Given the description of an element on the screen output the (x, y) to click on. 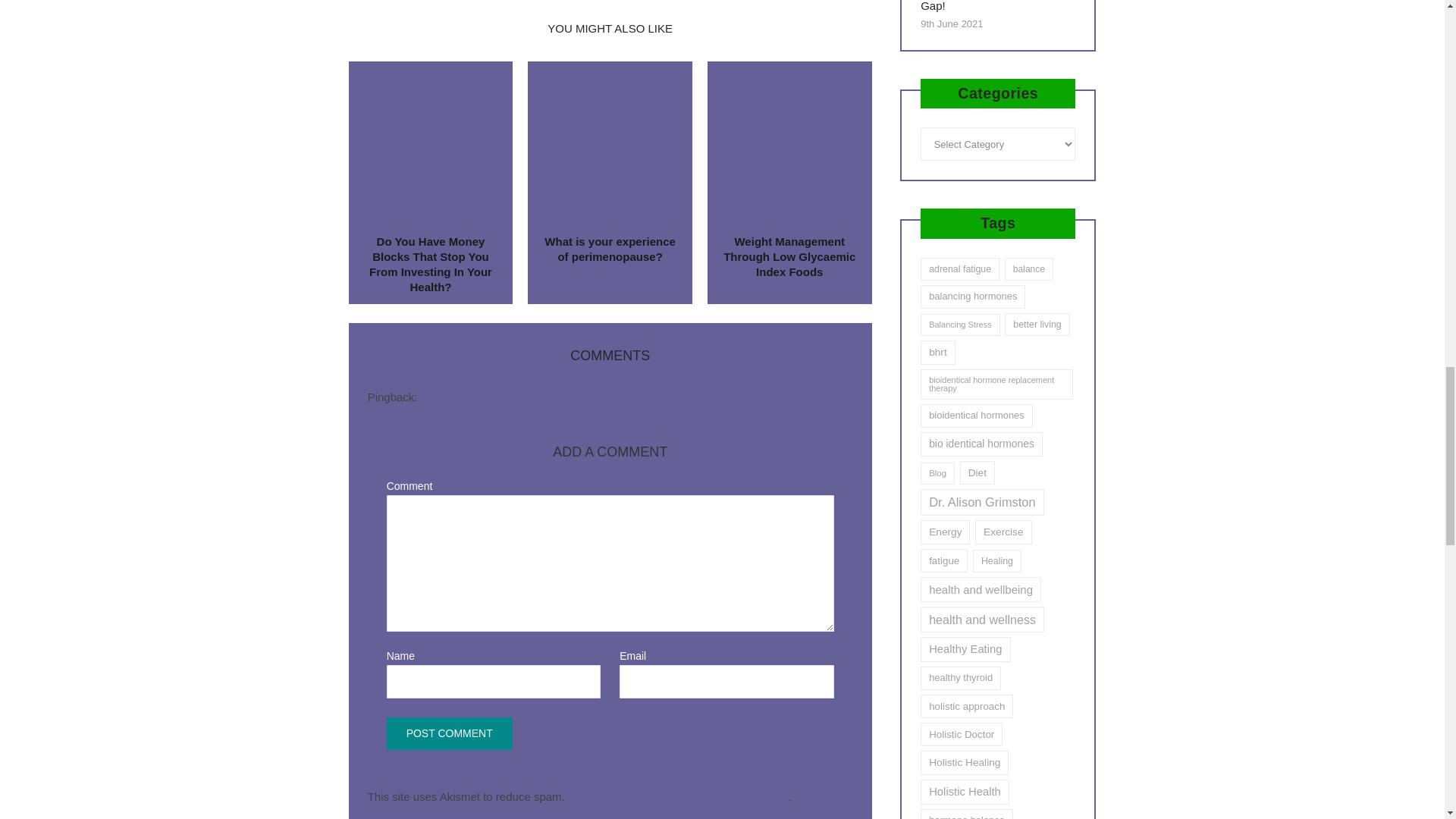
Post Comment (449, 733)
Weight Management Through Low Glycaemic Index Foods (789, 256)
What is your experience of perimenopause? (609, 248)
Learn how your comment data is processed (678, 796)
Post Comment (449, 733)
